Given the description of an element on the screen output the (x, y) to click on. 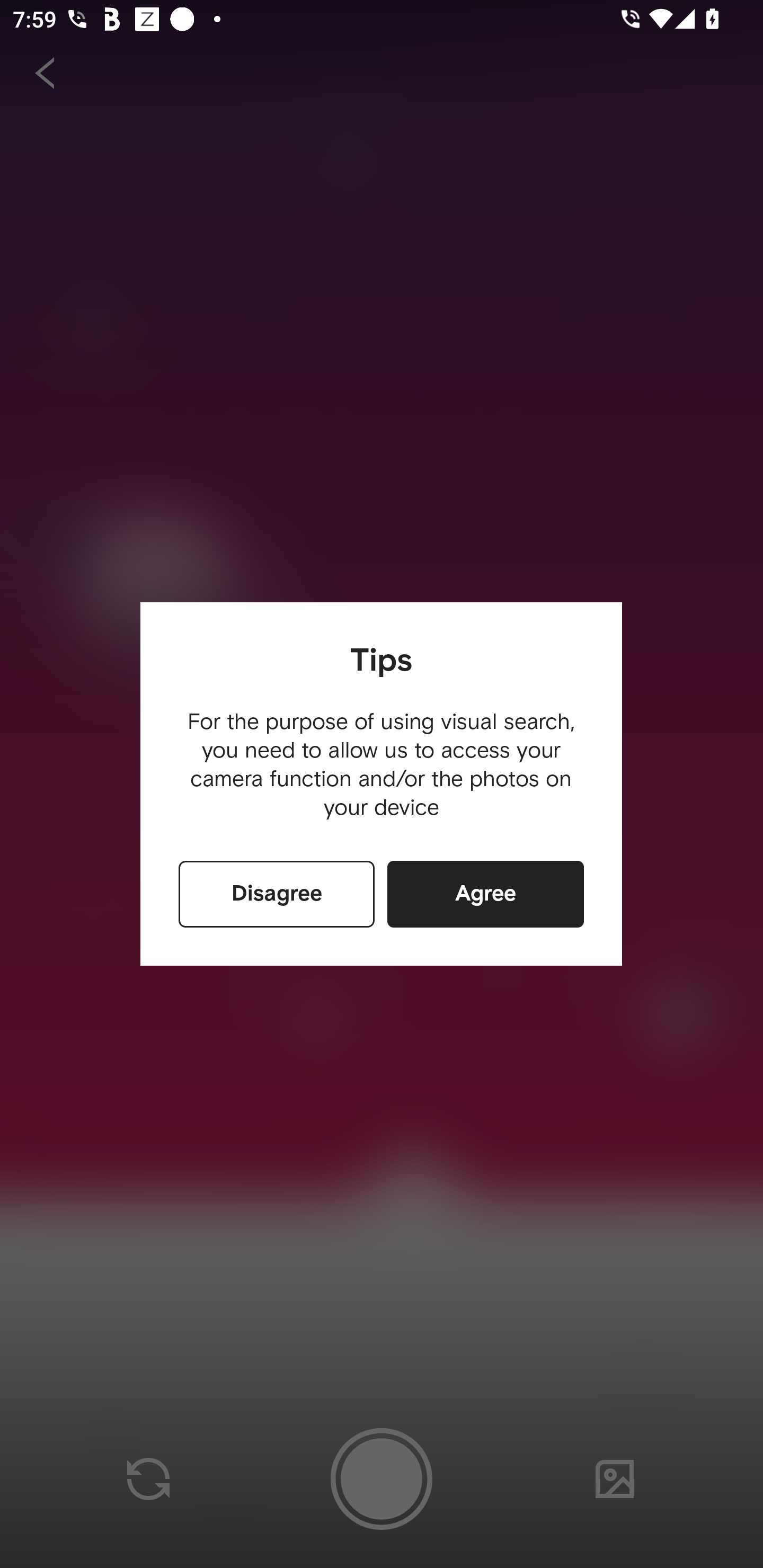
Disagree (276, 894)
Agree (485, 894)
